Given the description of an element on the screen output the (x, y) to click on. 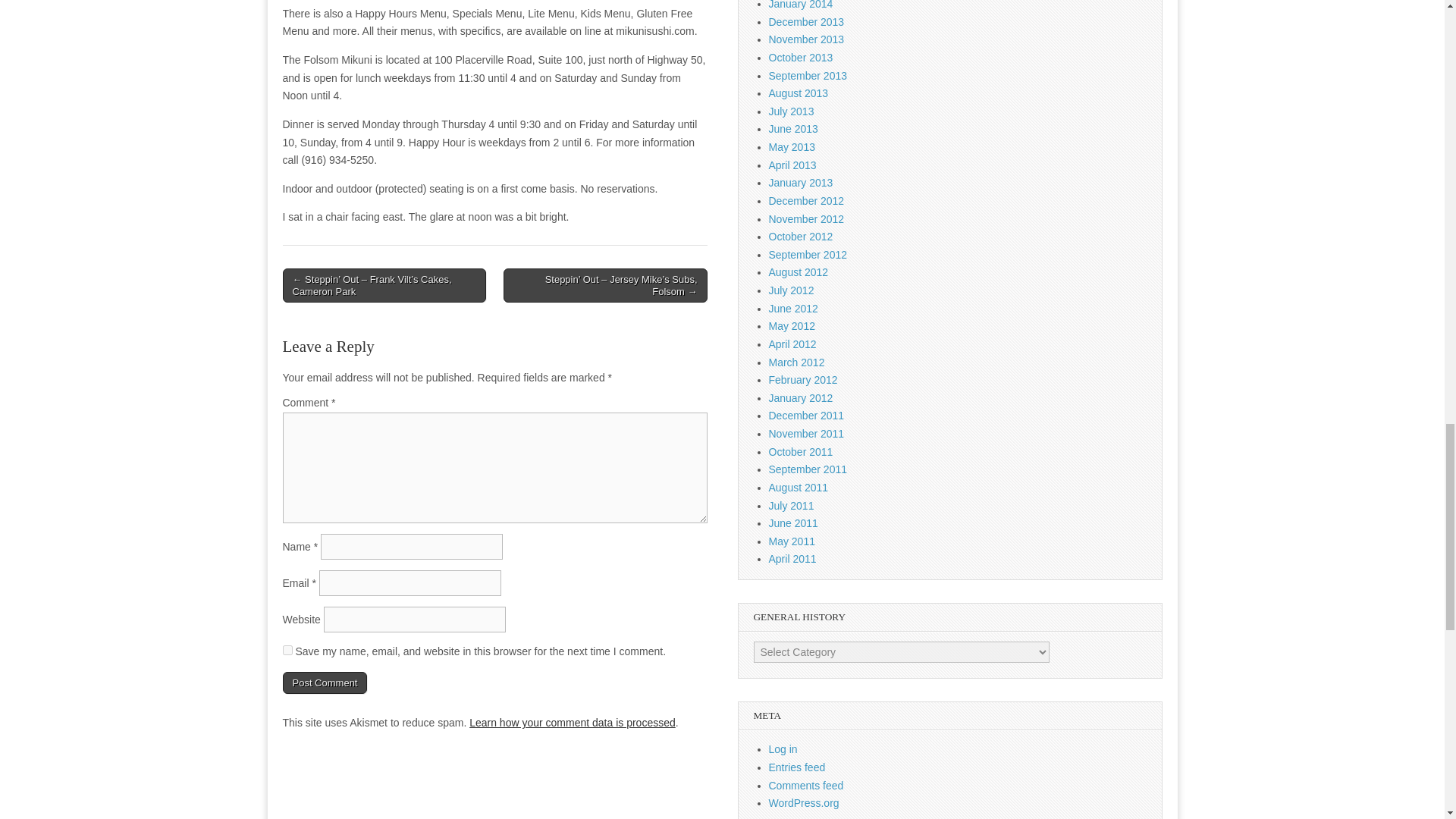
yes (287, 650)
Post Comment (324, 682)
